Given the description of an element on the screen output the (x, y) to click on. 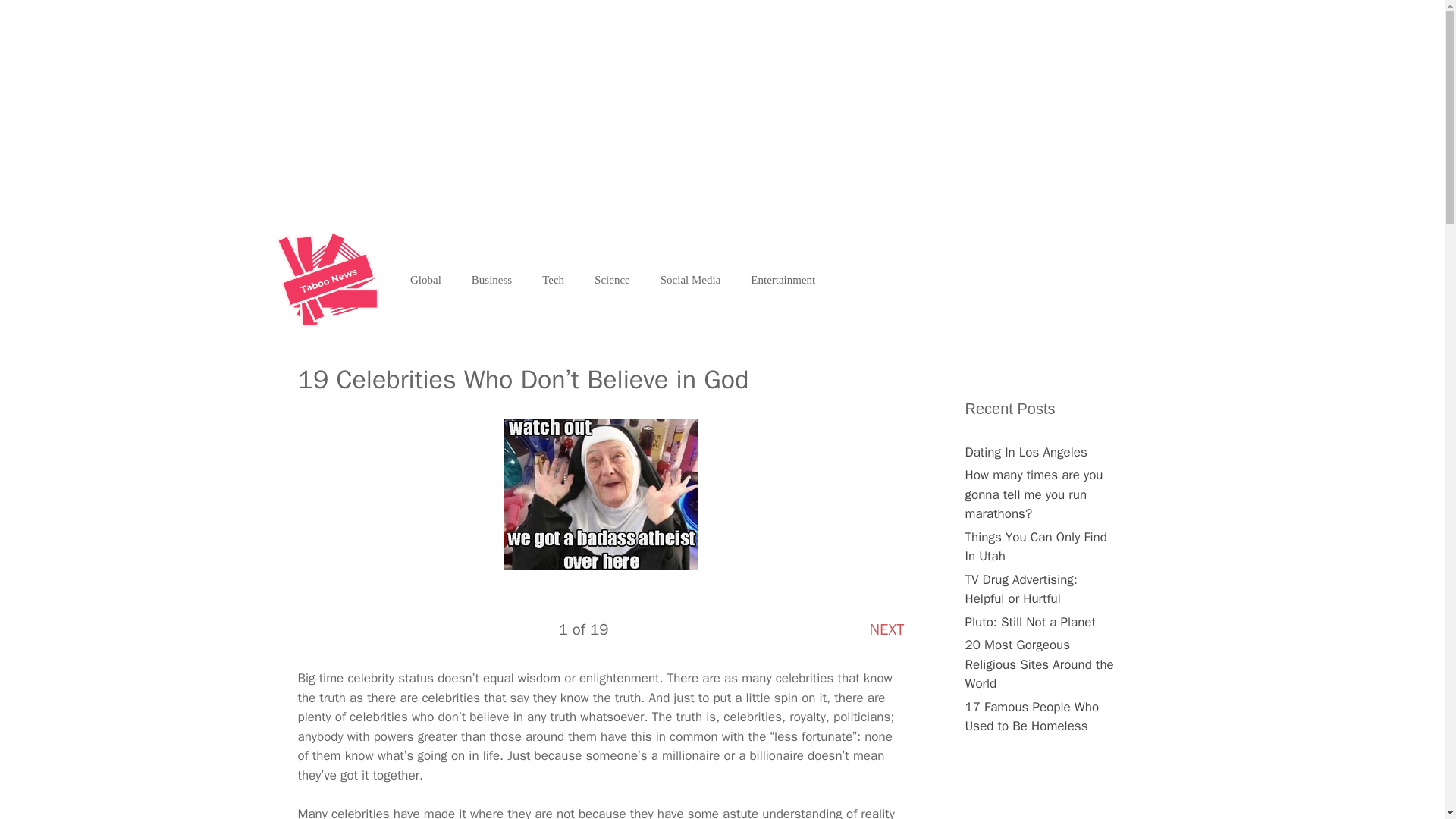
NEXT (886, 629)
Global (425, 279)
Science (612, 279)
Taboo News (326, 279)
Tech (553, 279)
Entertainment (782, 279)
Social Media (690, 279)
Business (492, 279)
Taboo News (331, 279)
